Given the description of an element on the screen output the (x, y) to click on. 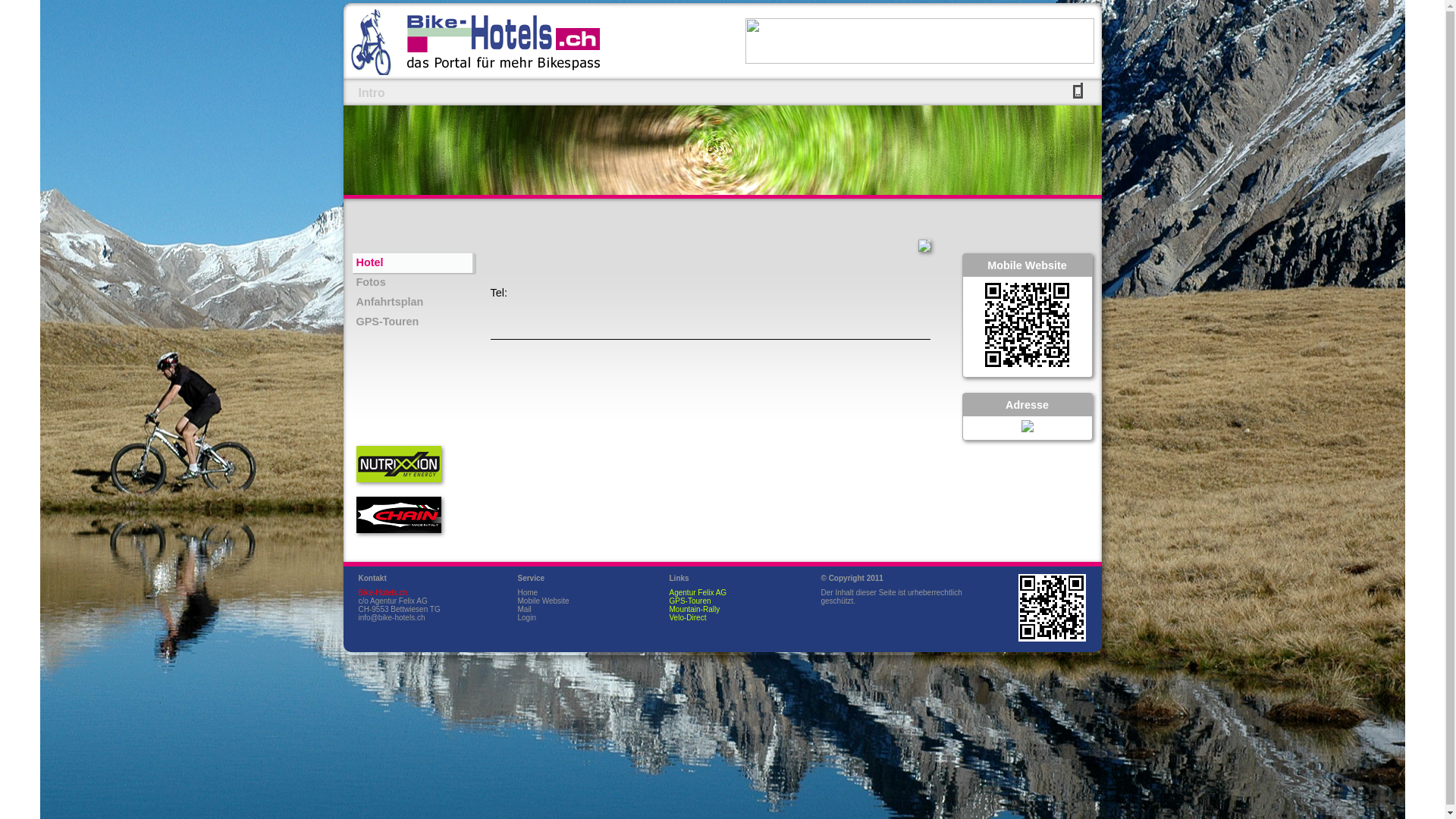
Home Element type: text (527, 592)
Login Element type: text (526, 617)
Agentur Felix AG Element type: text (697, 592)
Hotel Element type: text (412, 263)
Anfahrtsplan Element type: text (411, 302)
Mobile Website Element type: text (542, 600)
GPS-Touren Element type: text (689, 600)
info@bike-hotels.ch Element type: text (390, 617)
Intro Element type: text (370, 93)
Mail Element type: text (523, 609)
Fotos Element type: text (411, 282)
Velo-Direct Element type: text (687, 617)
Mountain-Rally Element type: text (693, 609)
GPS-Touren Element type: text (411, 322)
